Given the description of an element on the screen output the (x, y) to click on. 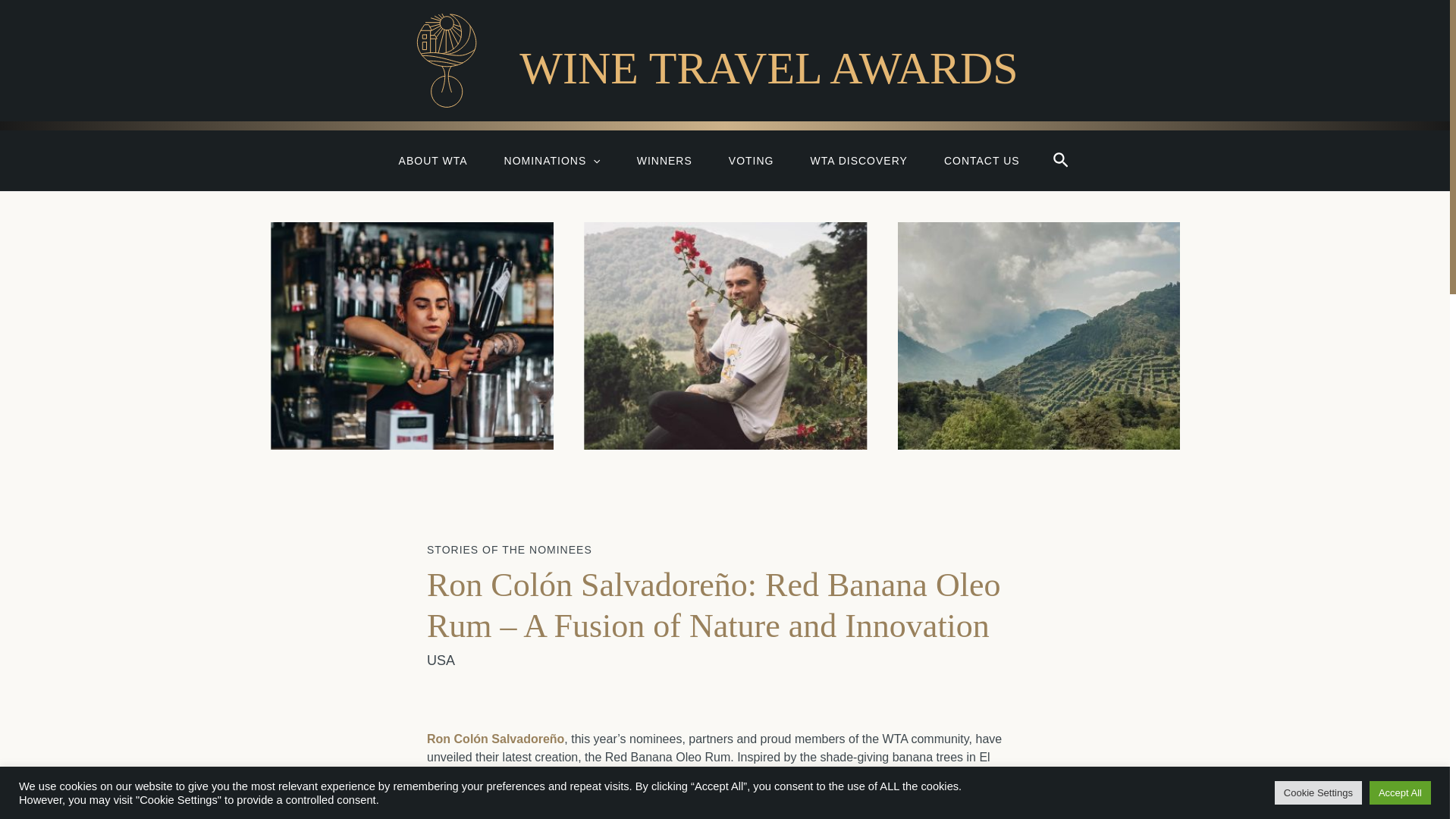
CONTACT US (982, 160)
NOMINATIONS (552, 160)
ABOUT WTA (433, 160)
WINNERS (664, 160)
WTA DISCOVERY (858, 160)
VOTING (751, 160)
